Given the description of an element on the screen output the (x, y) to click on. 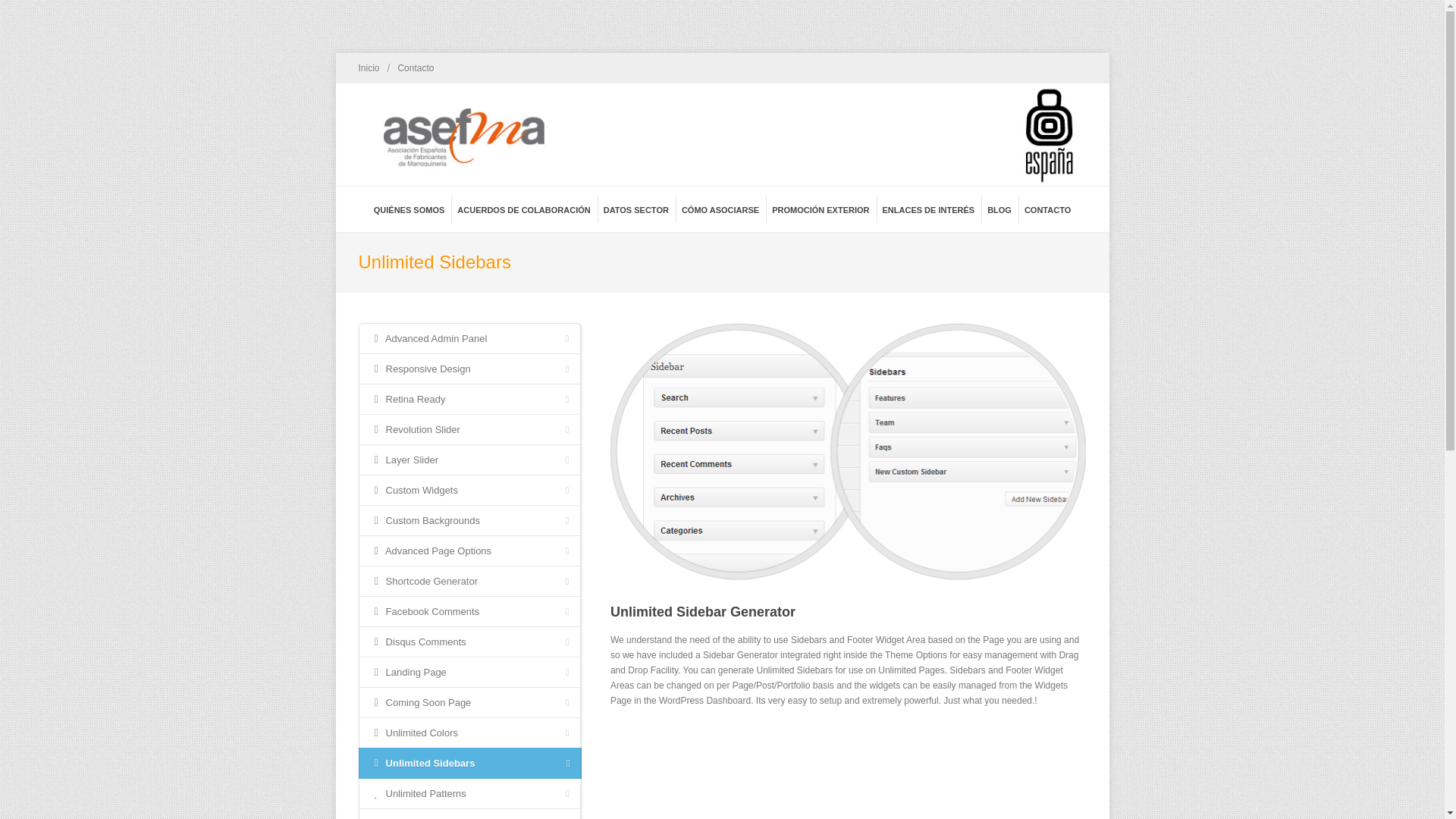
Inicio (368, 68)
DATOS SECTOR (635, 208)
Responsive Design (469, 368)
Unlimited Patterns (469, 793)
Custom Backgrounds (469, 520)
Retina Ready (469, 399)
Revolution Slider (469, 429)
Unlimited Sidebars (469, 762)
Unlimited Colors (469, 732)
Unlimited Sidebars (848, 450)
Advanced Admin Panel (469, 337)
Facebook Comments (469, 611)
Landing Page (469, 671)
ASEFMA (722, 134)
Disqus Comments (469, 641)
